Given the description of an element on the screen output the (x, y) to click on. 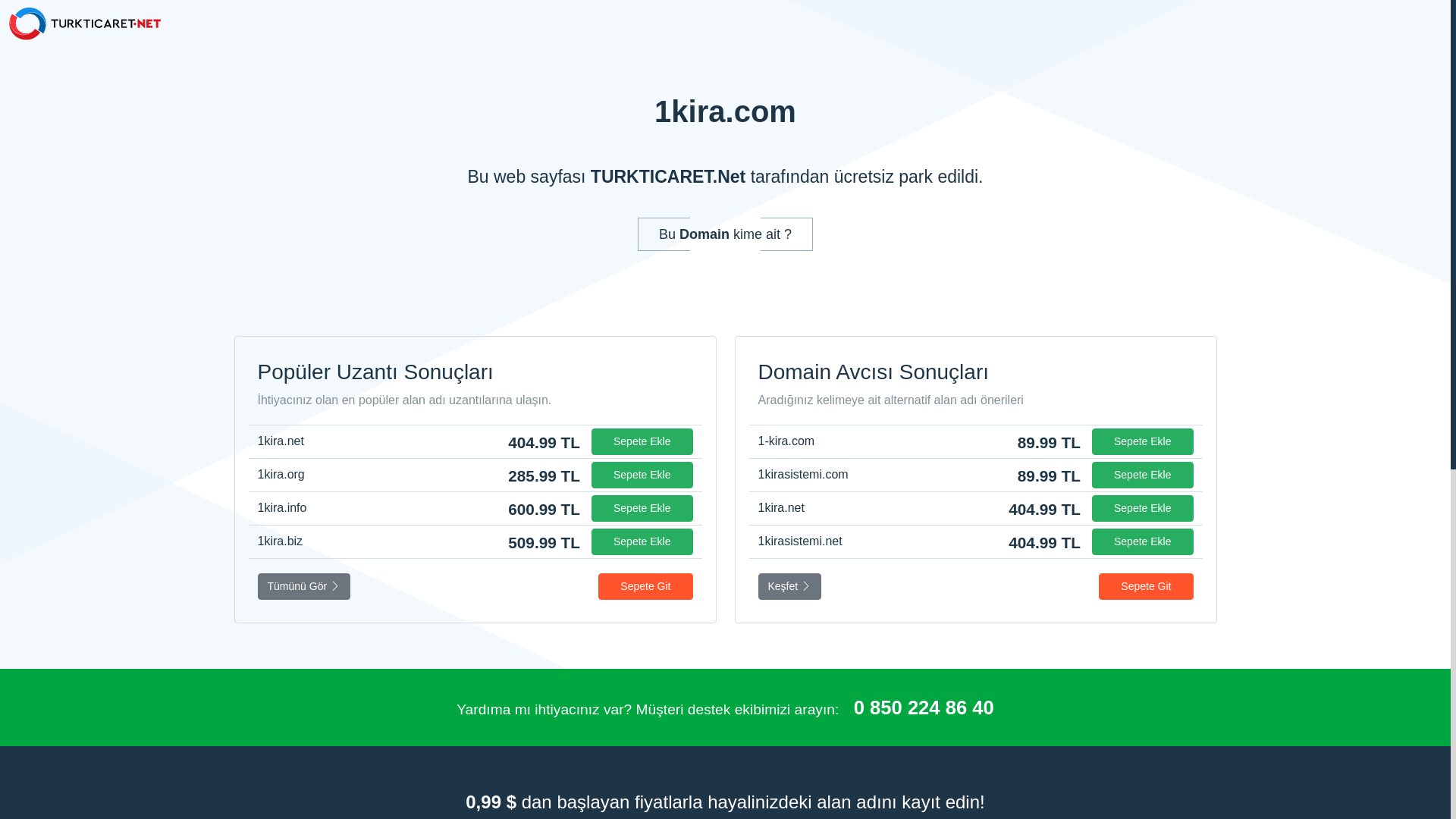
TURKTICARET.Net Element type: text (667, 176)
Sepete Git Element type: text (645, 586)
Bu Domain kime ait ? Element type: text (724, 234)
0 850 224 86 40 Element type: text (923, 706)
